Given the description of an element on the screen output the (x, y) to click on. 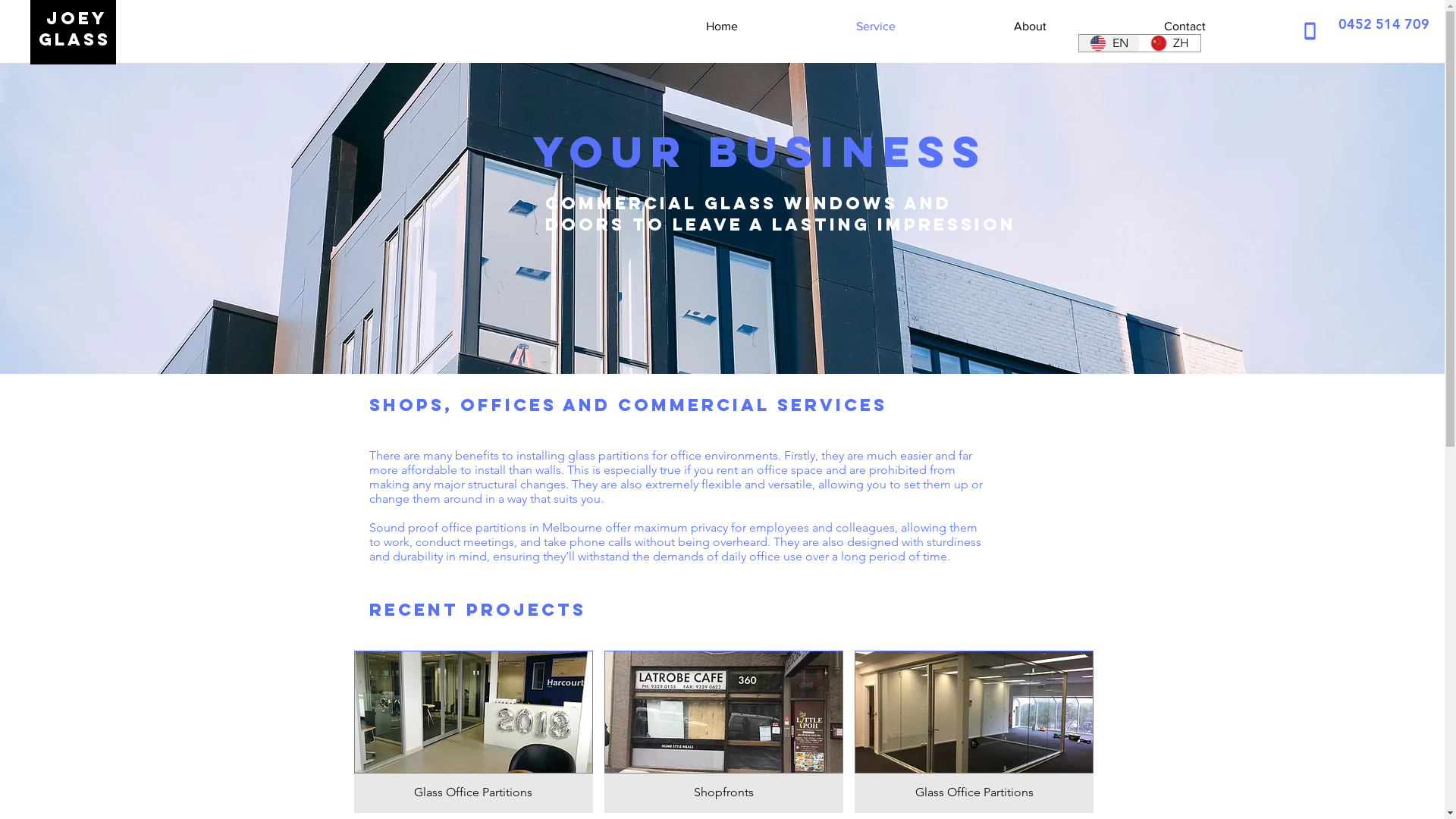
 jOEY Element type: text (72, 17)
About Element type: text (981, 26)
Contact Element type: text (1137, 26)
gLASS Element type: text (74, 39)
Home Element type: text (674, 26)
ZH Element type: text (1169, 42)
EN Element type: text (1108, 42)
Service Element type: text (827, 26)
